Given the description of an element on the screen output the (x, y) to click on. 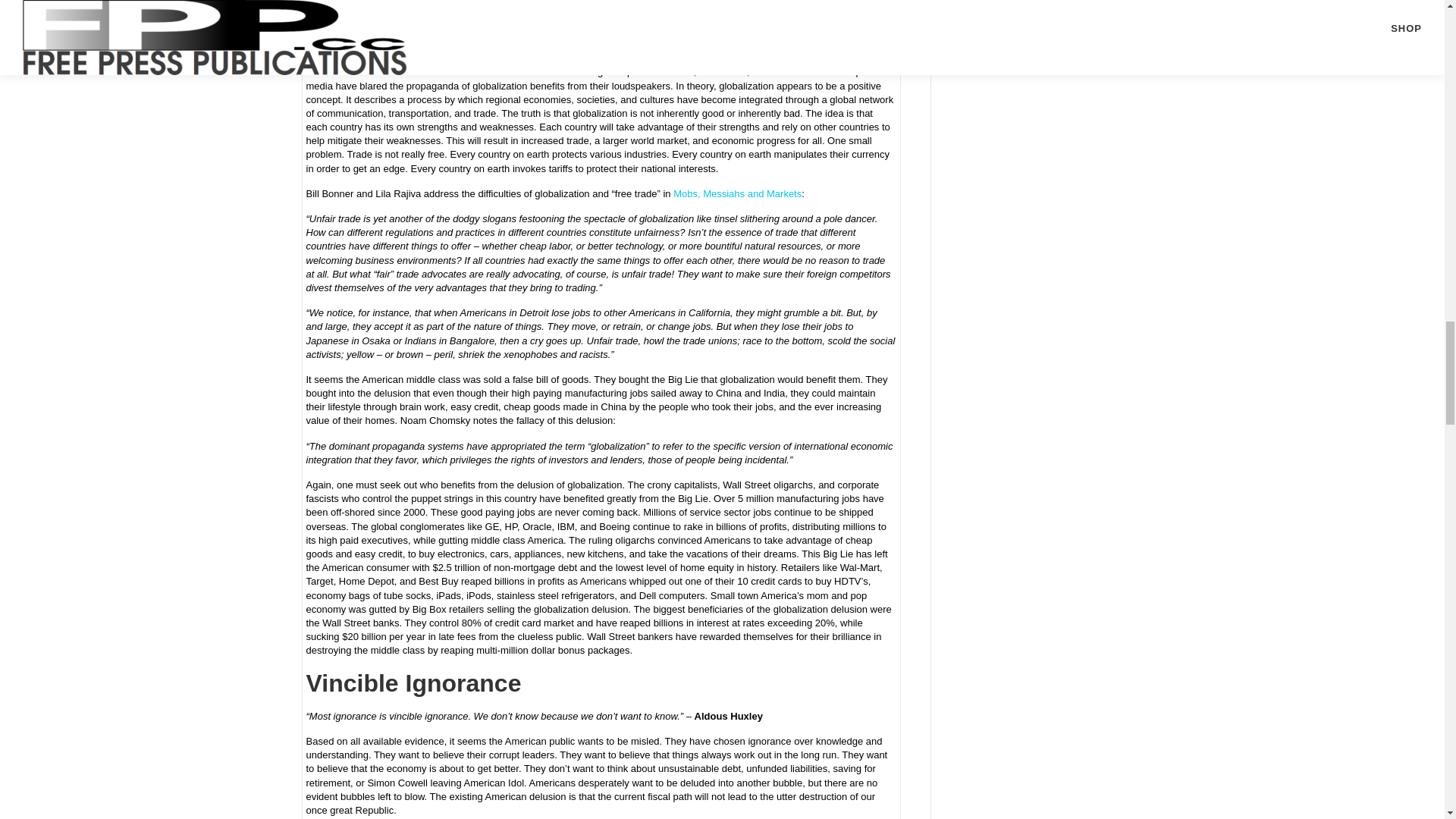
Mobs, Messiahs and Markets (737, 193)
